Given the description of an element on the screen output the (x, y) to click on. 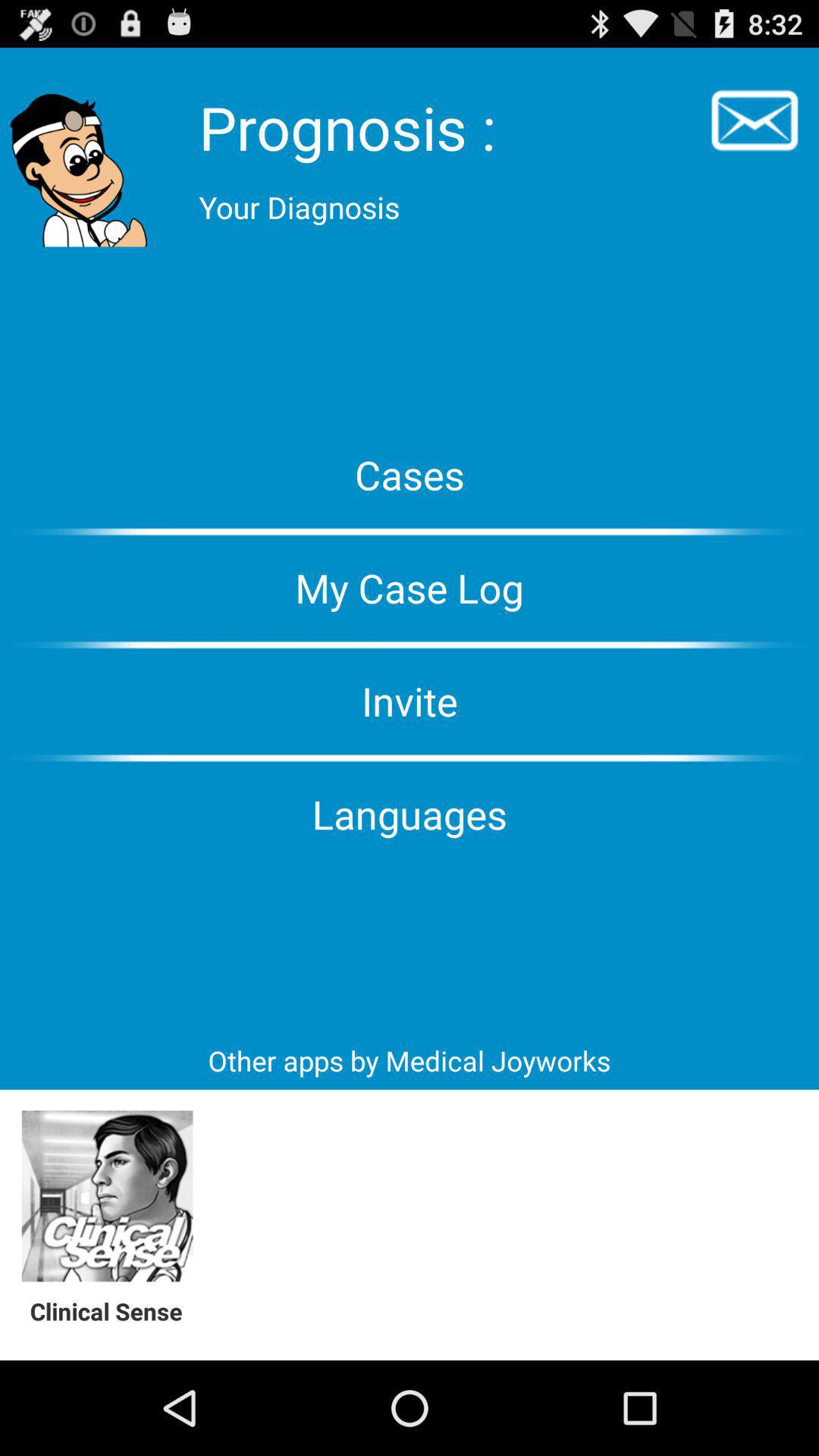
jump until the my case log item (409, 587)
